Given the description of an element on the screen output the (x, y) to click on. 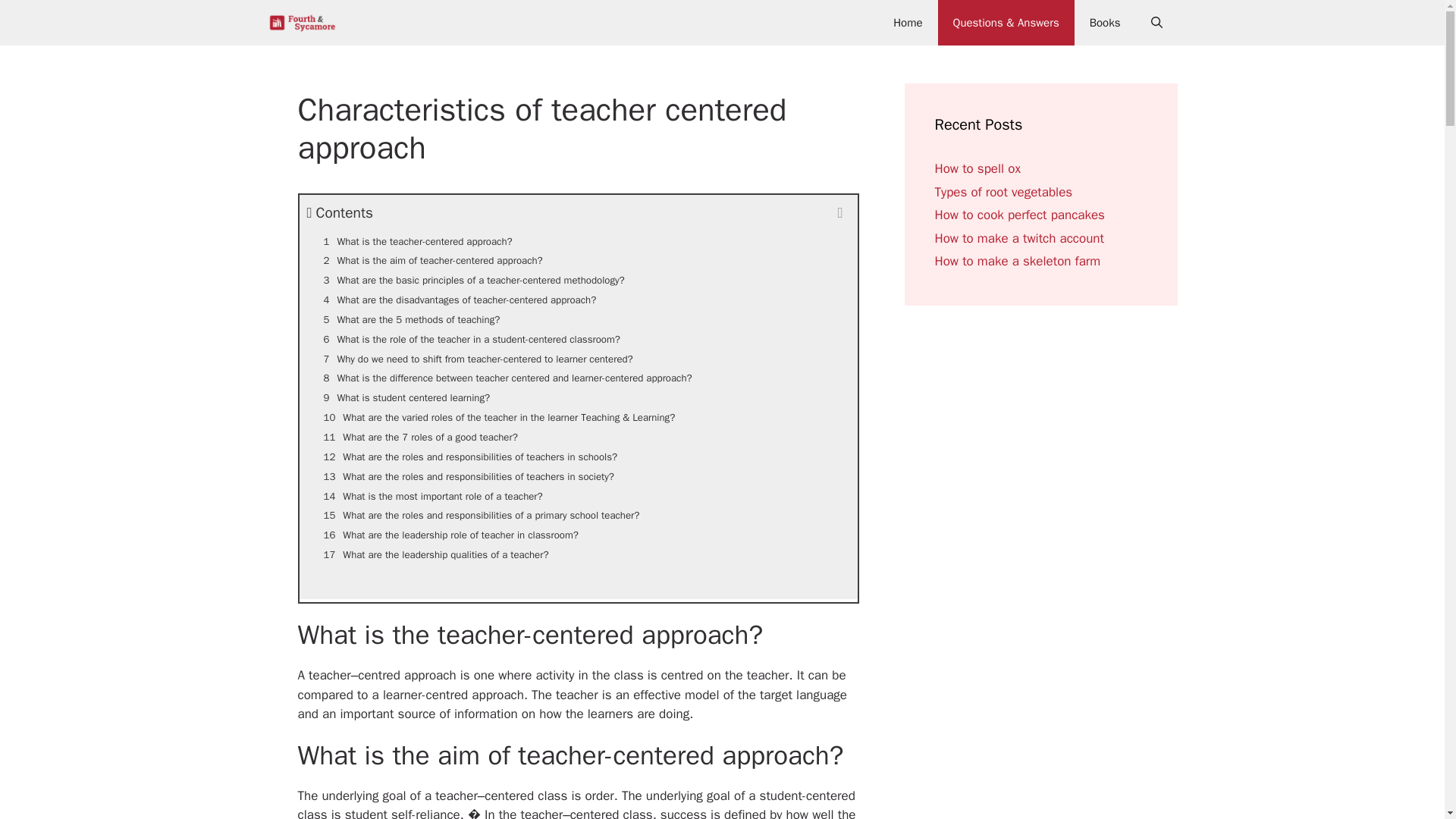
What is student centered learning? (577, 397)
What is the most important role of a teacher? (577, 496)
What are the disadvantages of teacher-centered approach? (577, 300)
Home (907, 22)
What are the 5 methods of teaching? (577, 320)
